Given the description of an element on the screen output the (x, y) to click on. 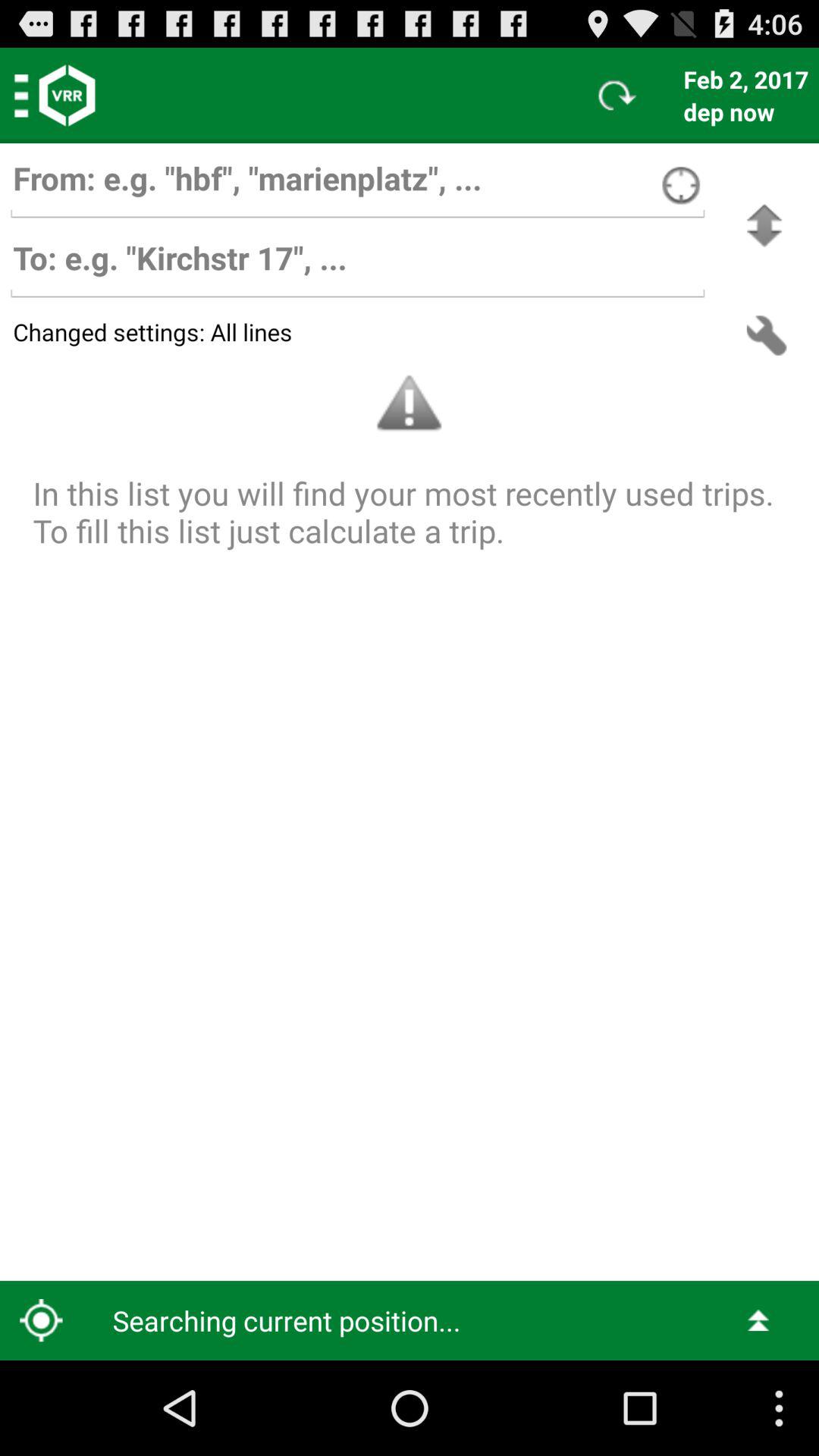
swaps the to and from bars (764, 225)
